Given the description of an element on the screen output the (x, y) to click on. 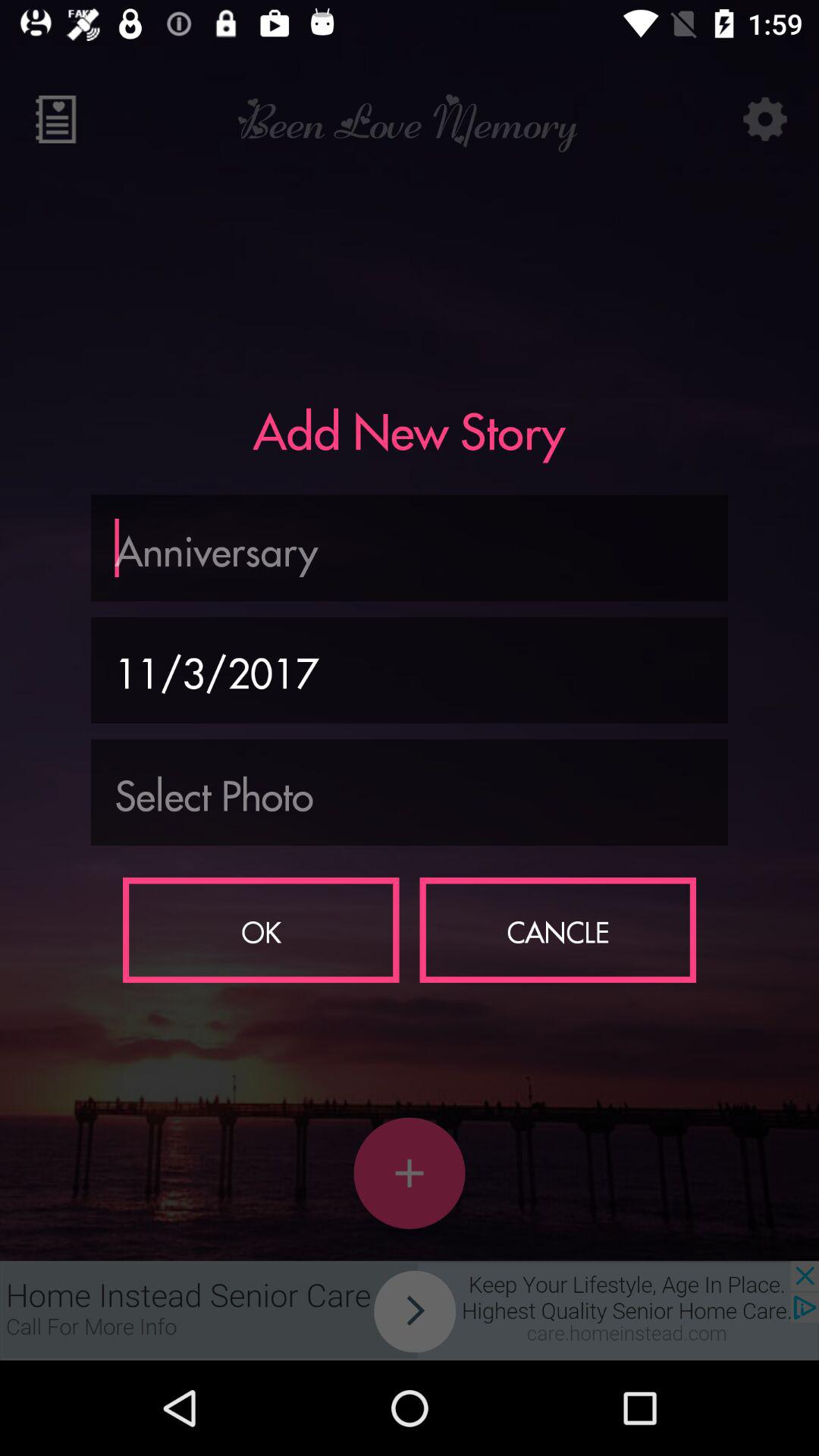
turn off icon next to the ok item (557, 929)
